Given the description of an element on the screen output the (x, y) to click on. 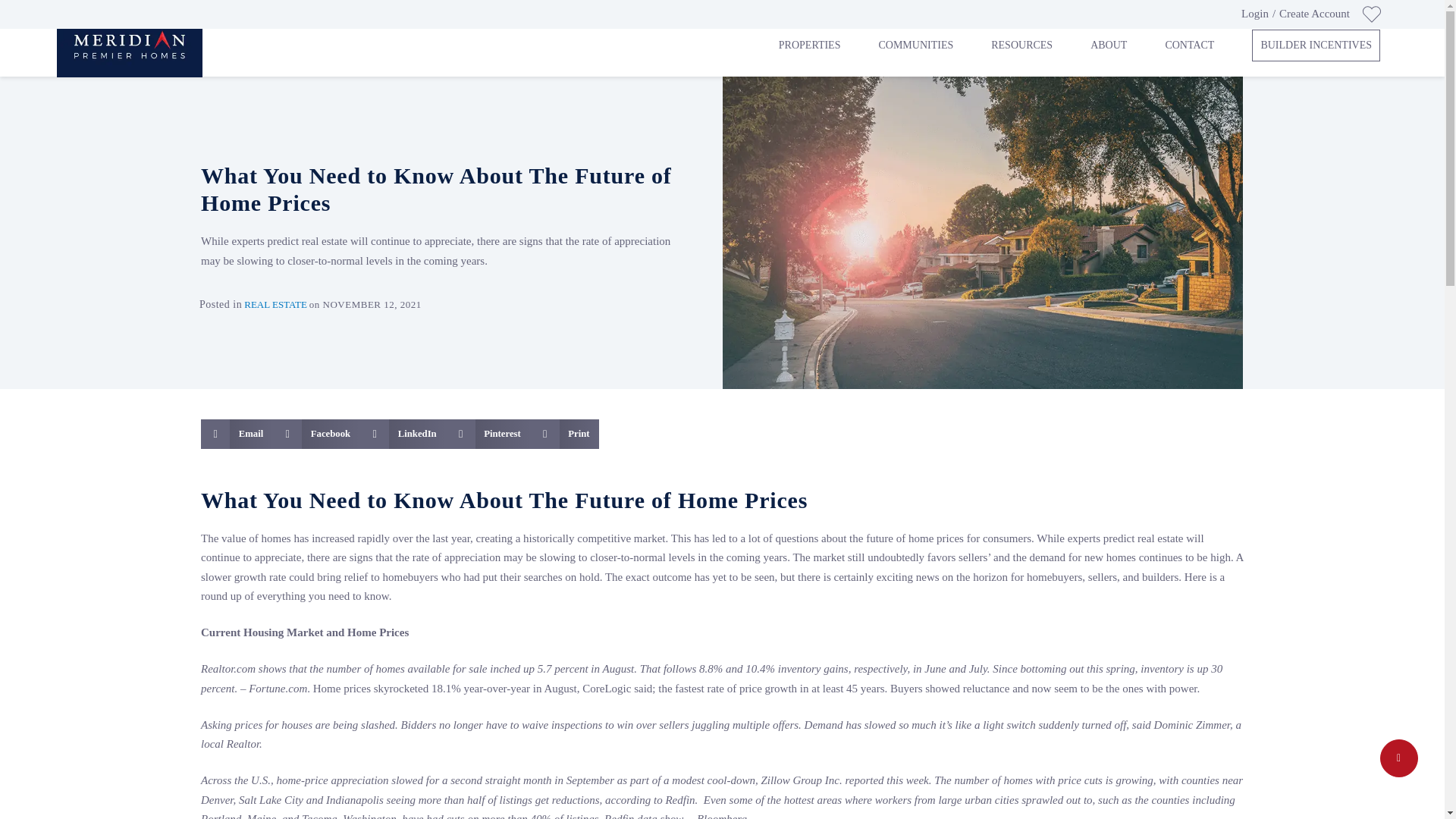
COMMUNITIES (915, 45)
Create Account (1314, 14)
Login (1254, 14)
PROPERTIES (809, 45)
RESOURCES (1021, 45)
